Given the description of an element on the screen output the (x, y) to click on. 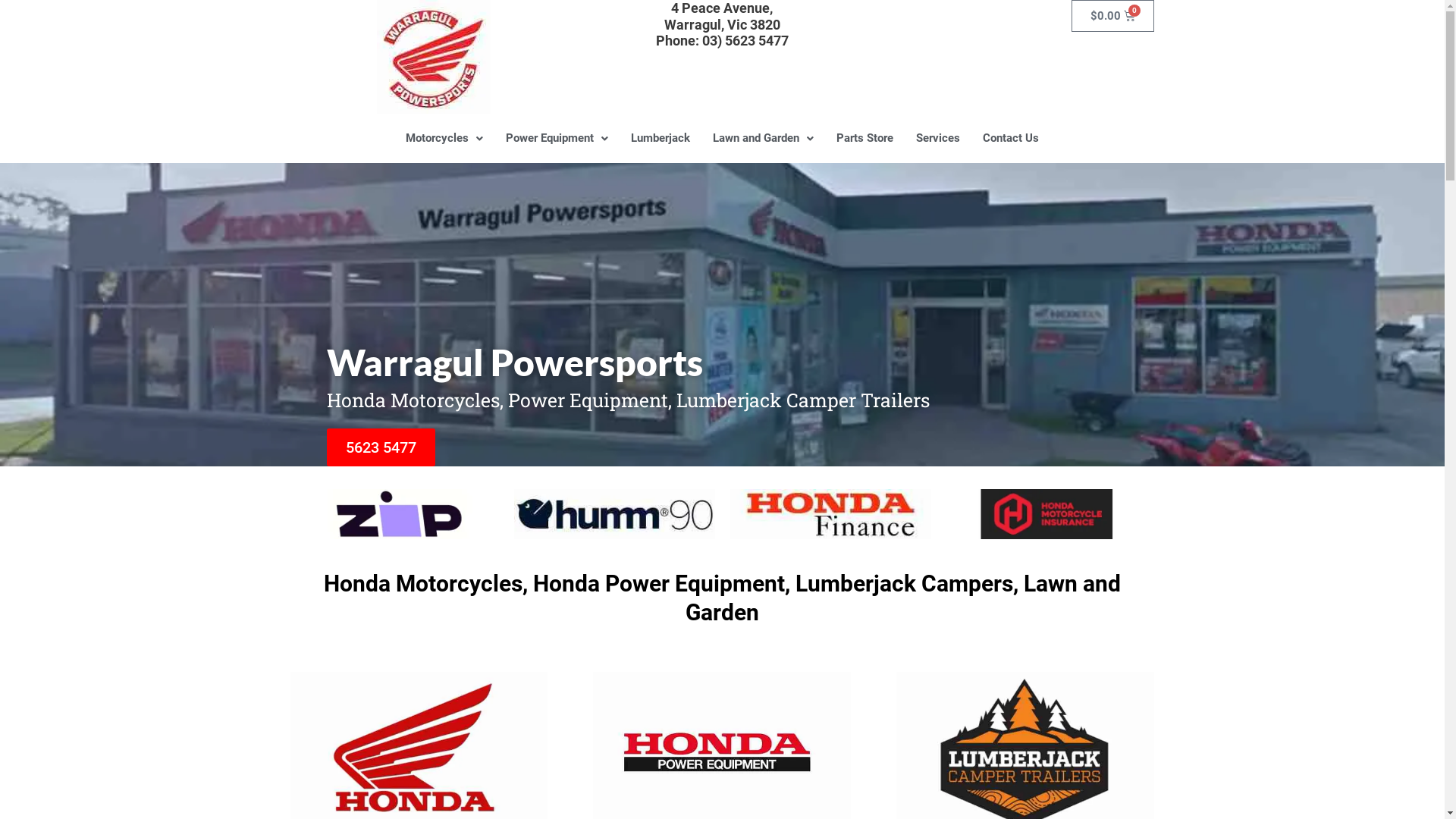
5623 5477 Element type: text (380, 447)
Power Equipment Element type: text (556, 138)
Motorcycles Element type: text (444, 138)
Home 1 Element type: hover (397, 514)
Home 5 Element type: hover (829, 514)
Parts Store Element type: text (864, 138)
Lumberjack Element type: text (660, 138)
Home 3 Element type: hover (614, 514)
$0.00
0
Cart Element type: text (1112, 15)
Contact Us Element type: text (1010, 138)
Lawn and Garden Element type: text (763, 138)
Services Element type: text (937, 138)
Home 7 Element type: hover (1046, 514)
